Given the description of an element on the screen output the (x, y) to click on. 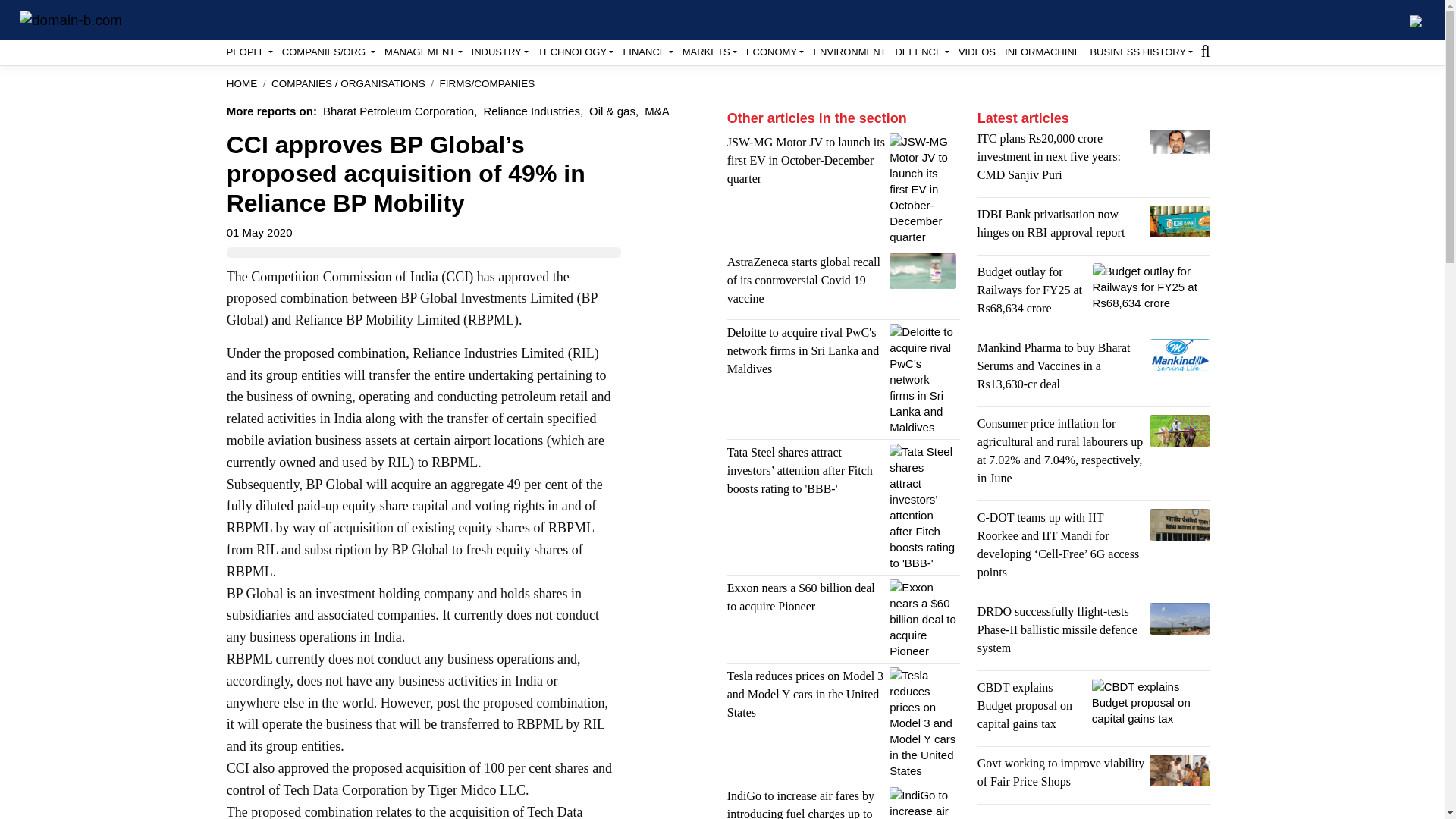
PEOPLE (248, 52)
